Given the description of an element on the screen output the (x, y) to click on. 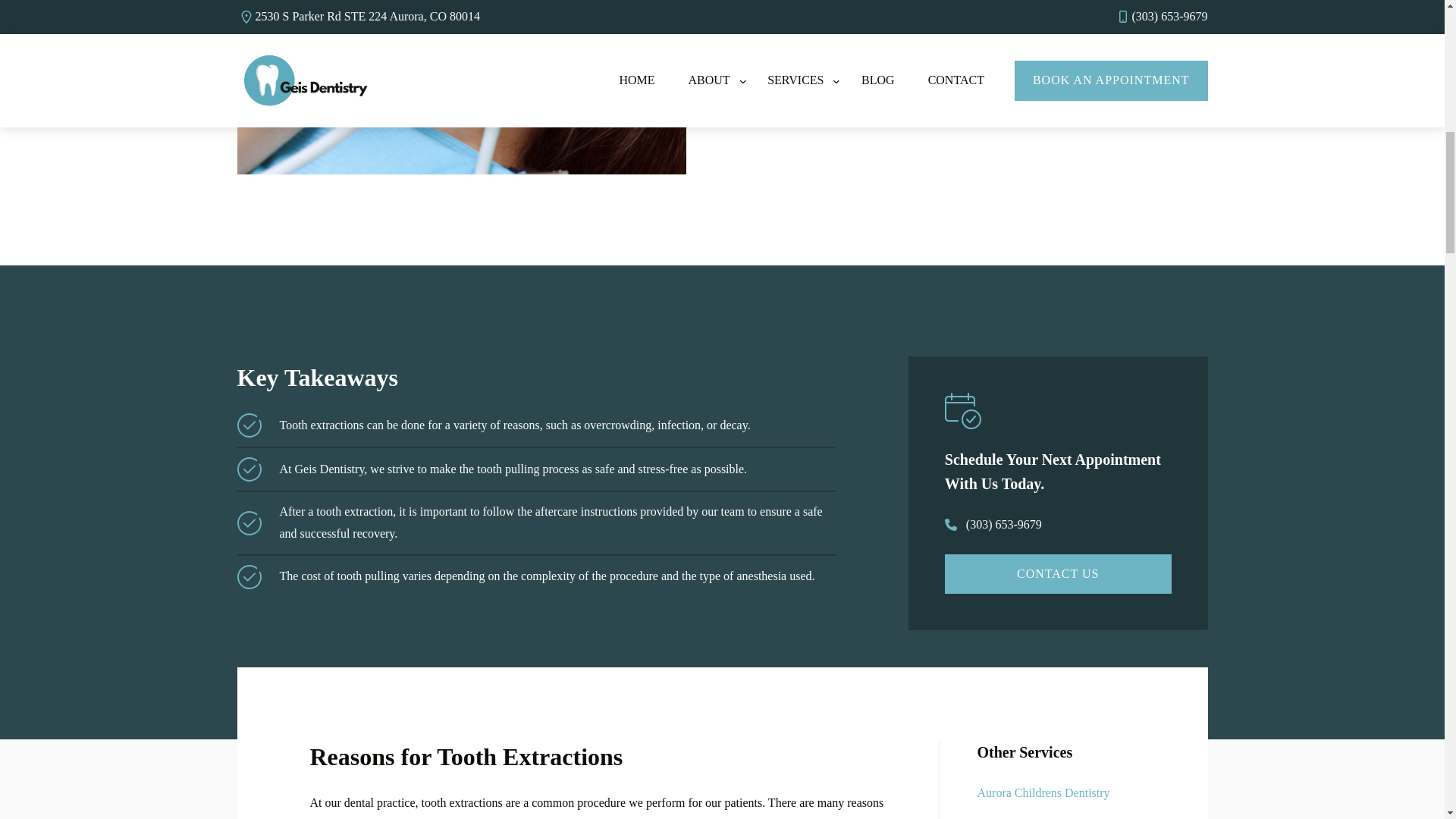
CONTACT US (1058, 574)
Geis Dentistry (902, 44)
Aurora Childrens Dentistry (1042, 793)
Aurora Cosmetic Dentistry (1042, 816)
